Given the description of an element on the screen output the (x, y) to click on. 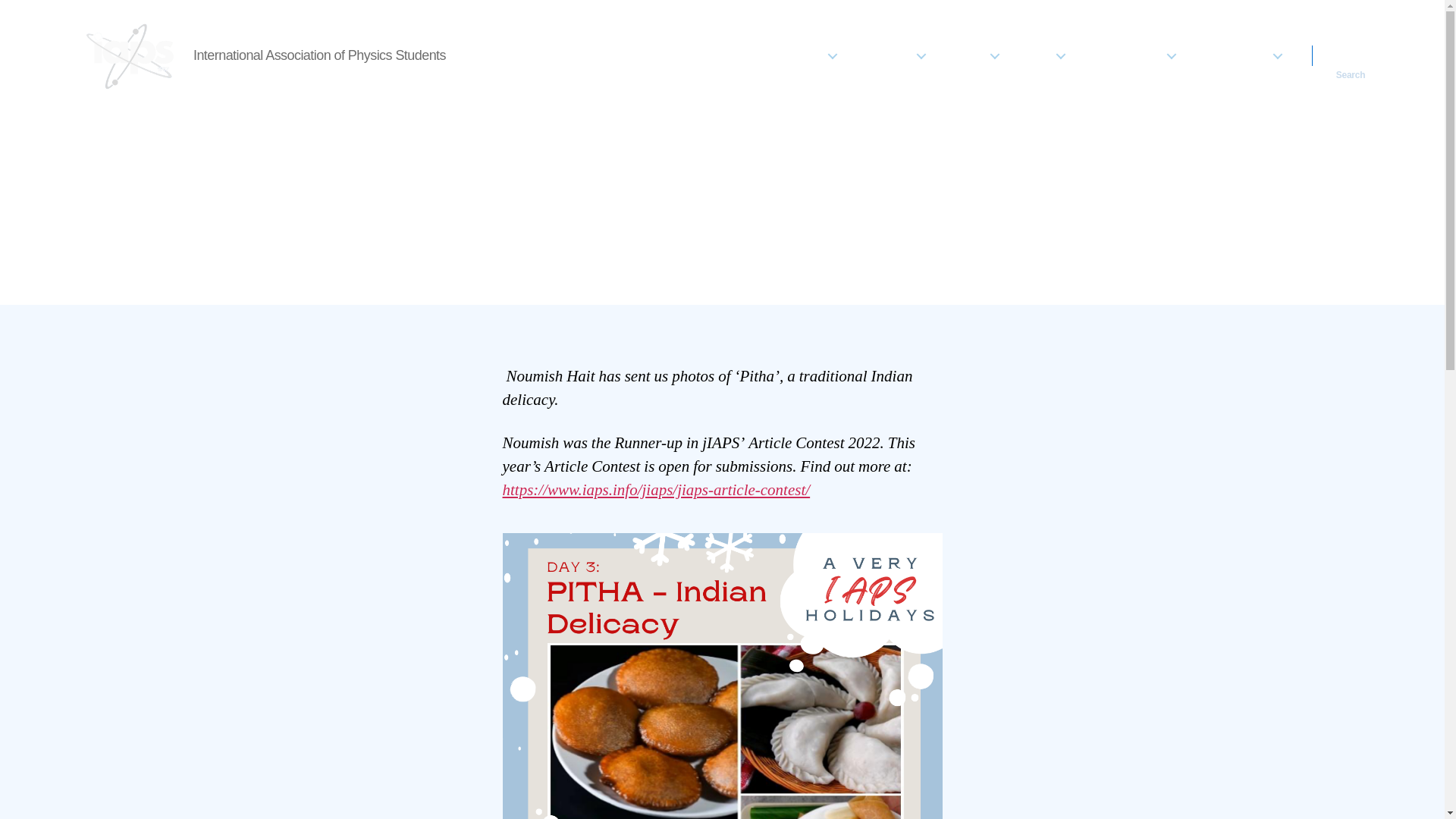
Members (890, 54)
News (752, 54)
Search (1350, 55)
Events (970, 54)
jIAPS (1041, 54)
About (812, 54)
Opportunities (1128, 54)
AC5 Council (1237, 54)
